Given the description of an element on the screen output the (x, y) to click on. 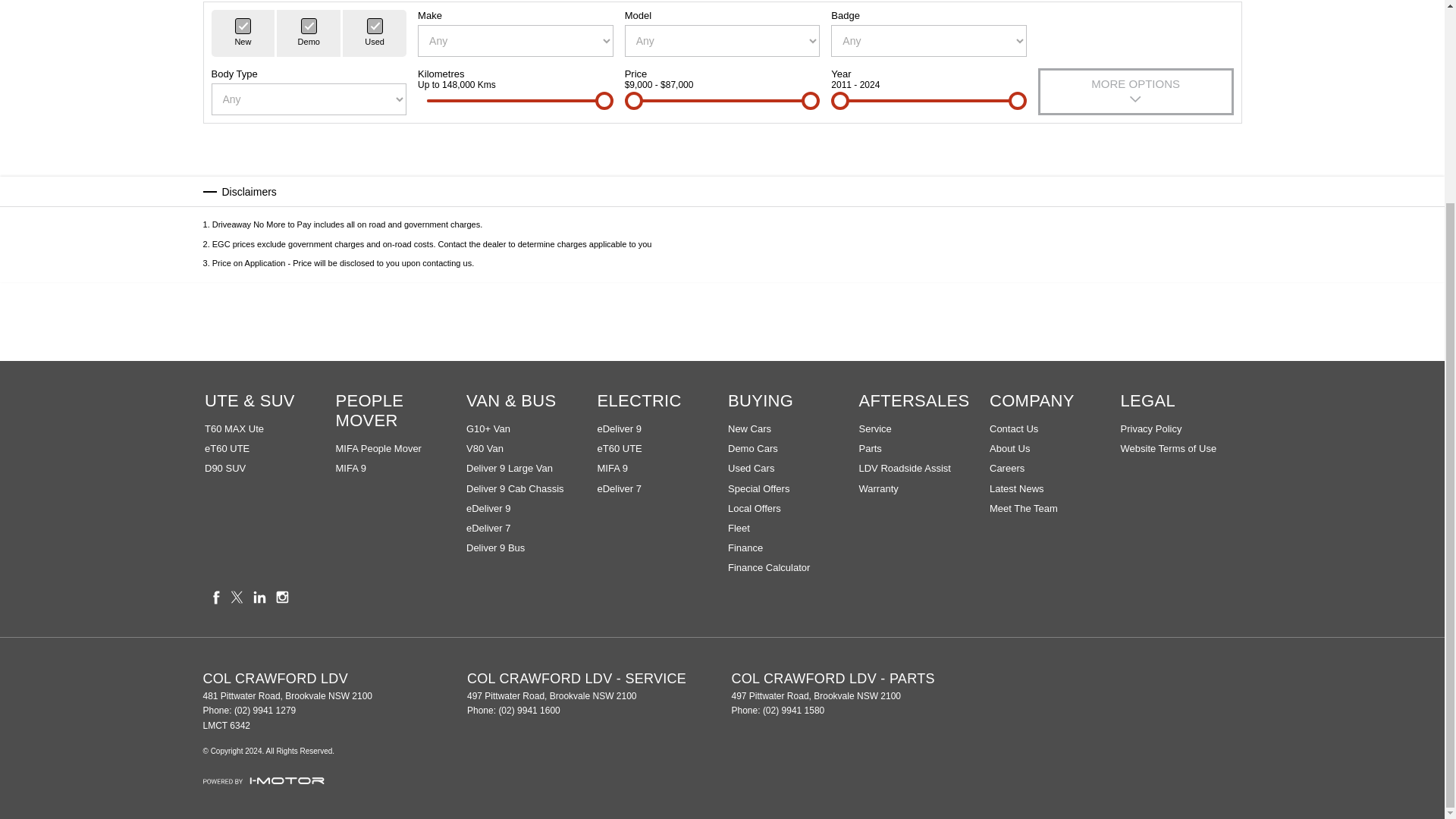
Demo (309, 25)
Used (374, 25)
New (242, 25)
